Given the description of an element on the screen output the (x, y) to click on. 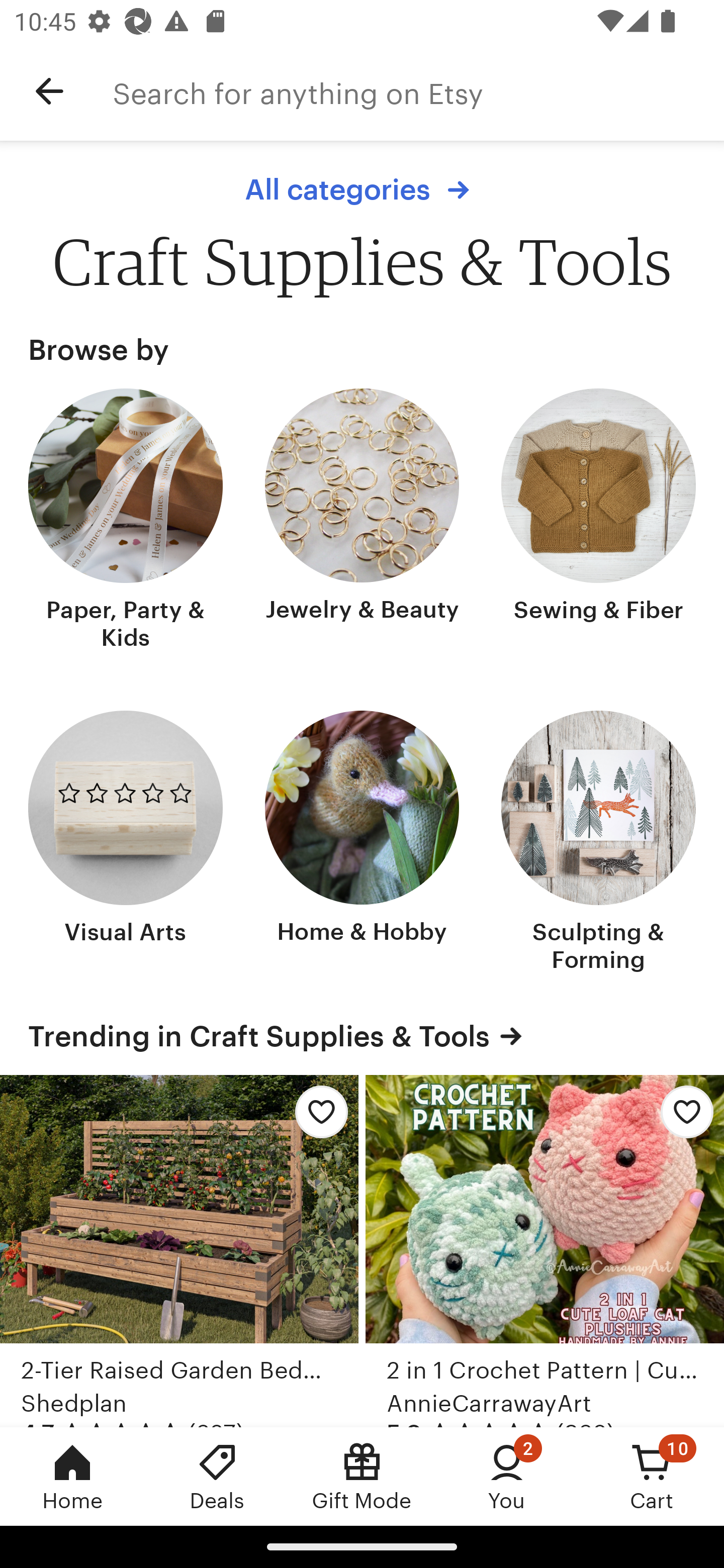
Navigate up (49, 91)
Search for anything on Etsy (418, 91)
All categories (361, 189)
Paper, Party & Kids (125, 520)
Jewelry & Beauty (361, 520)
Sewing & Fiber (598, 520)
Visual Arts (125, 843)
Home & Hobby (361, 843)
Sculpting & Forming (598, 843)
Trending in Craft Supplies & Tools  (361, 1036)
Deals (216, 1475)
Gift Mode (361, 1475)
You, 2 new notifications You (506, 1475)
Cart, 10 new notifications Cart (651, 1475)
